Given the description of an element on the screen output the (x, y) to click on. 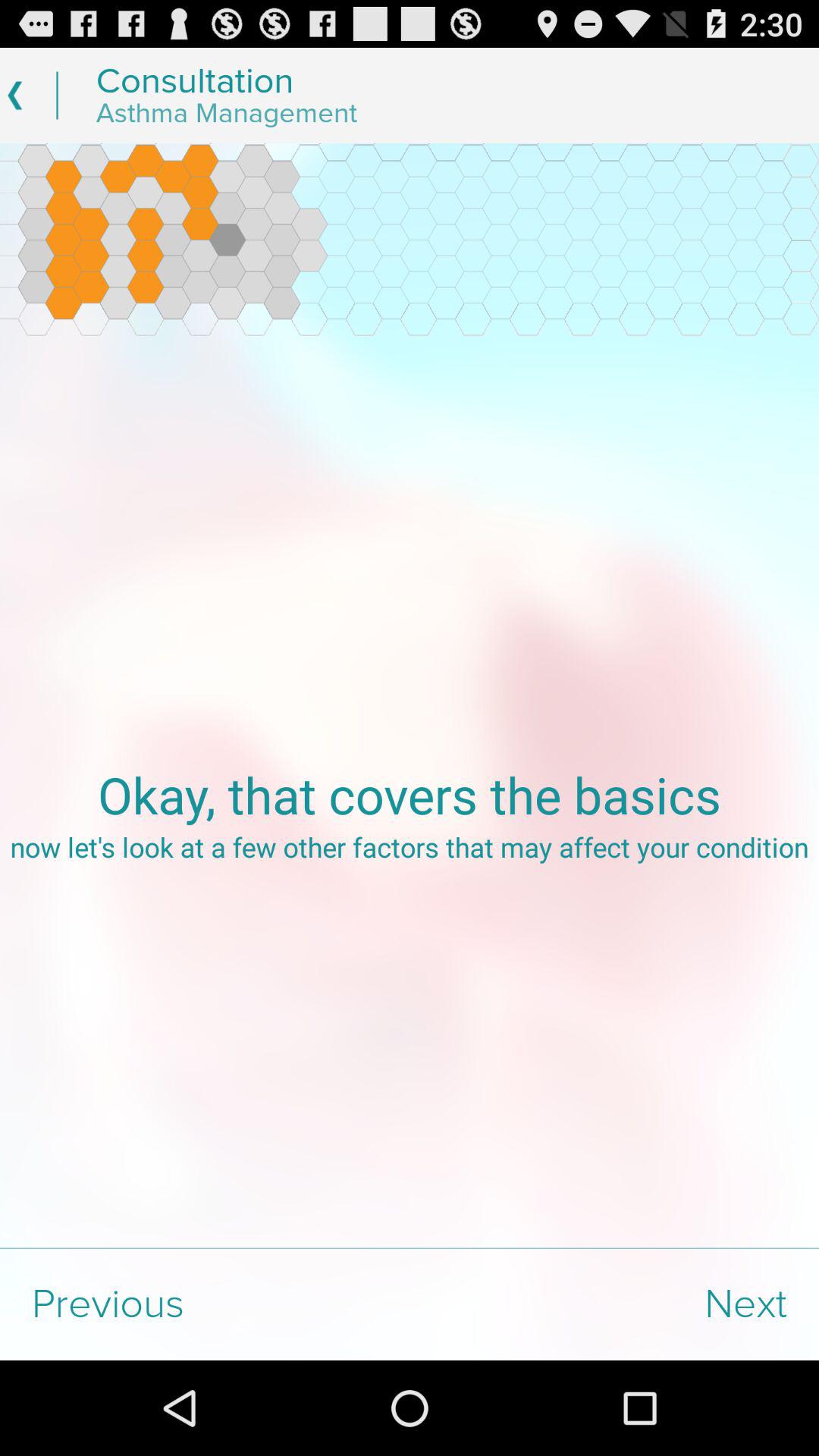
scroll to the next app (614, 1304)
